Given the description of an element on the screen output the (x, y) to click on. 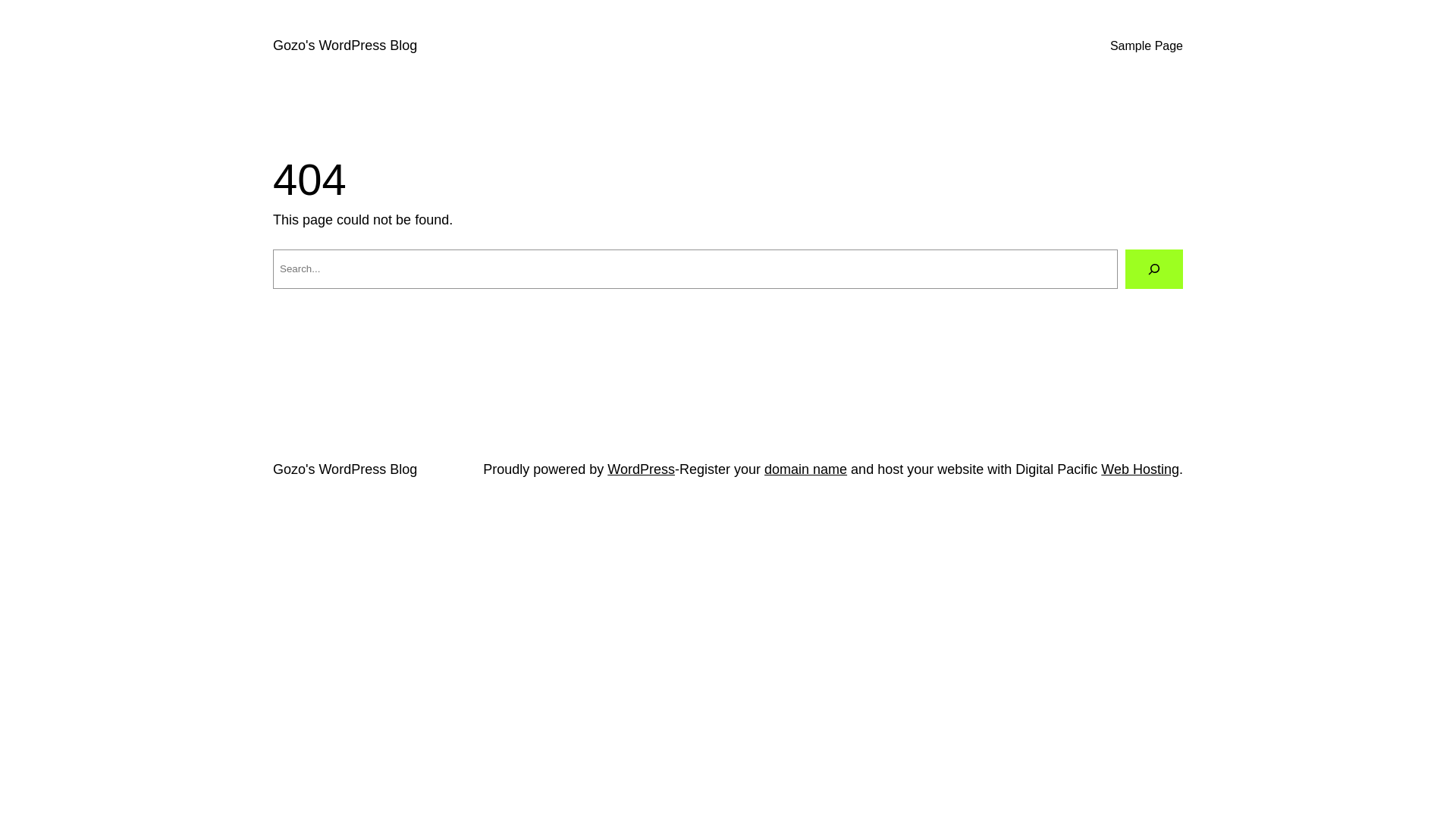
Gozo's WordPress Blog Element type: text (345, 468)
Web Hosting Element type: text (1140, 468)
domain name Element type: text (805, 468)
Gozo's WordPress Blog Element type: text (345, 45)
WordPress Element type: text (640, 468)
Sample Page Element type: text (1146, 46)
